Given the description of an element on the screen output the (x, y) to click on. 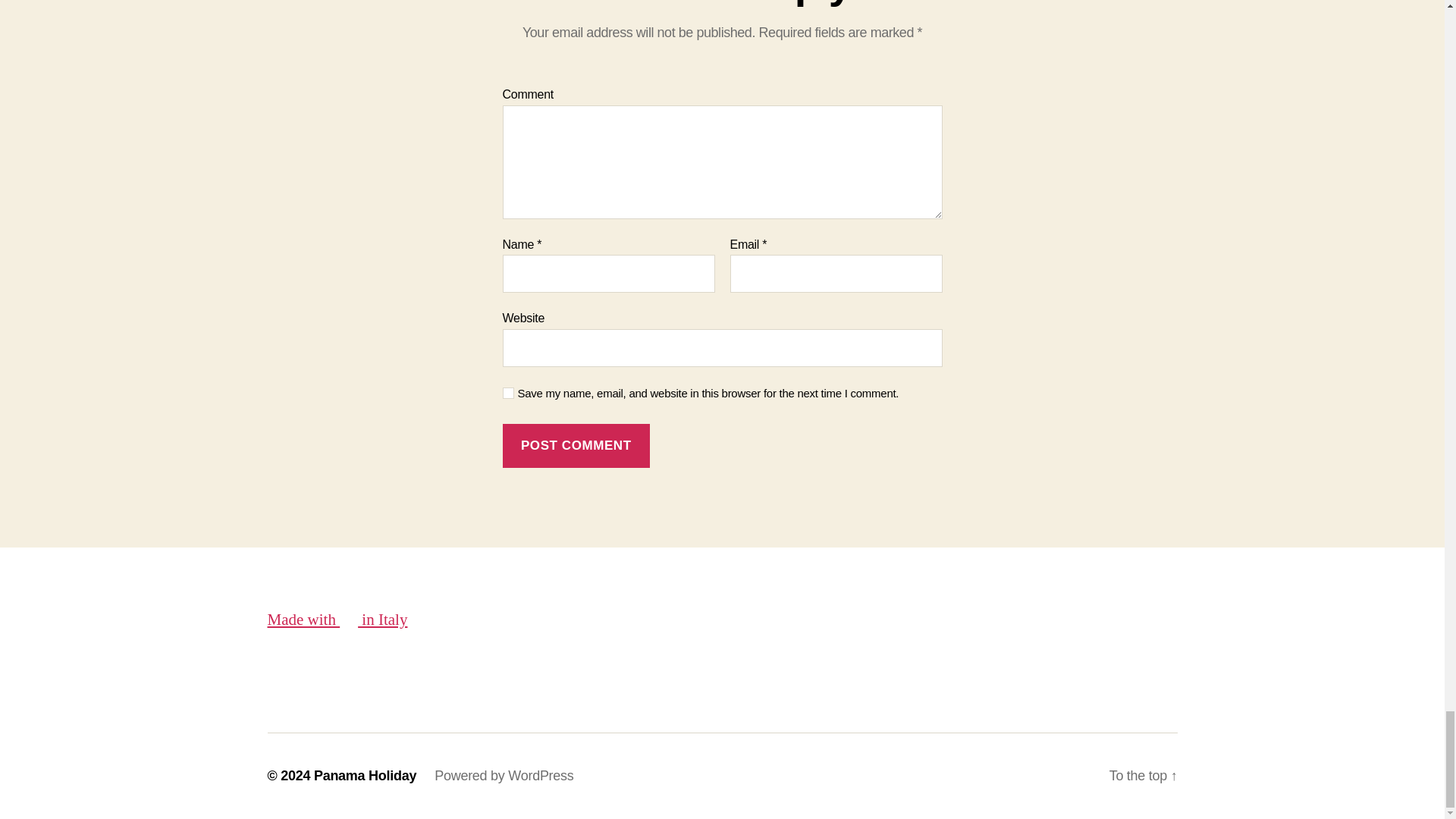
yes (507, 392)
Post Comment (575, 446)
